Given the description of an element on the screen output the (x, y) to click on. 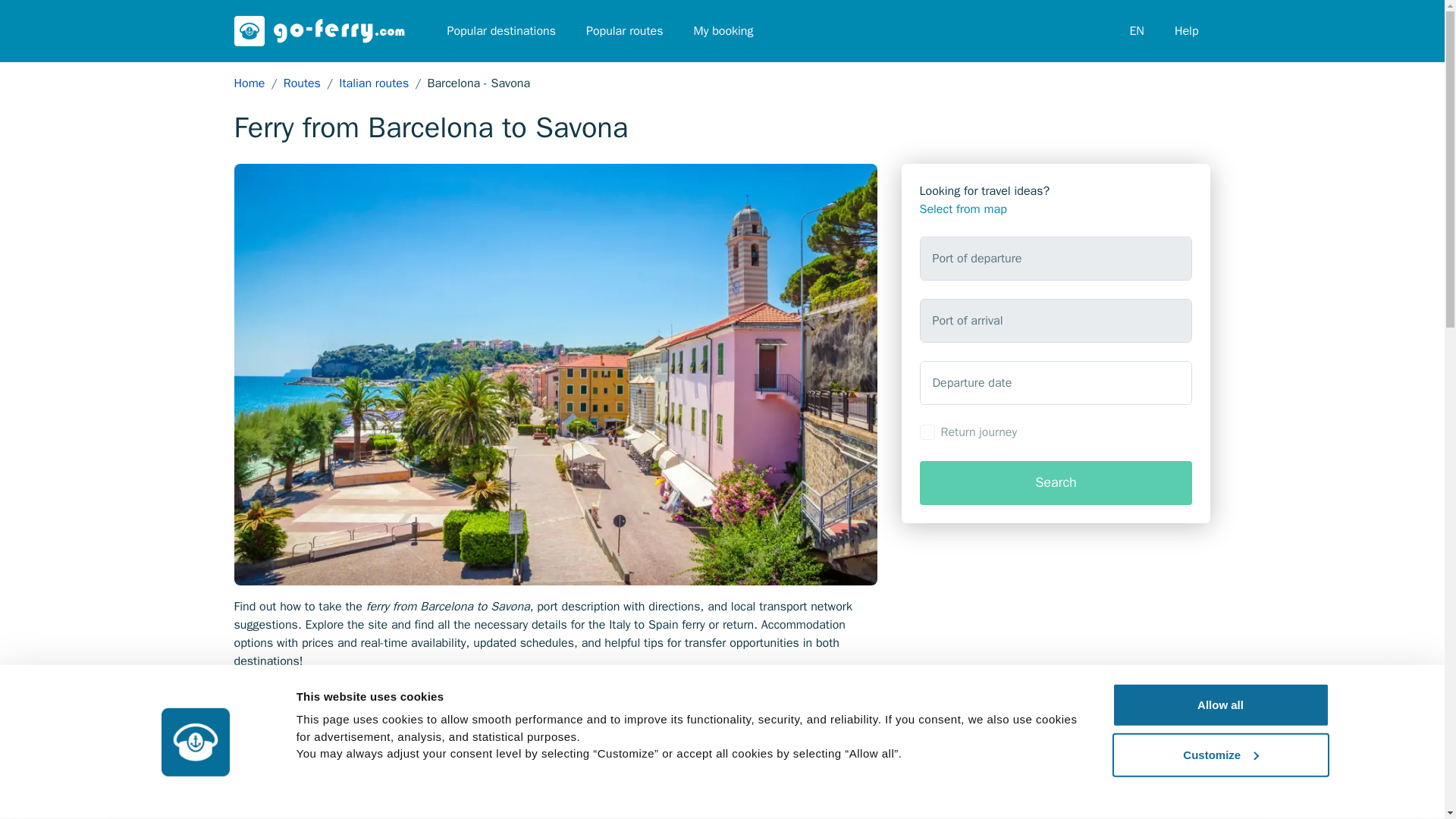
on (926, 432)
